Given the description of an element on the screen output the (x, y) to click on. 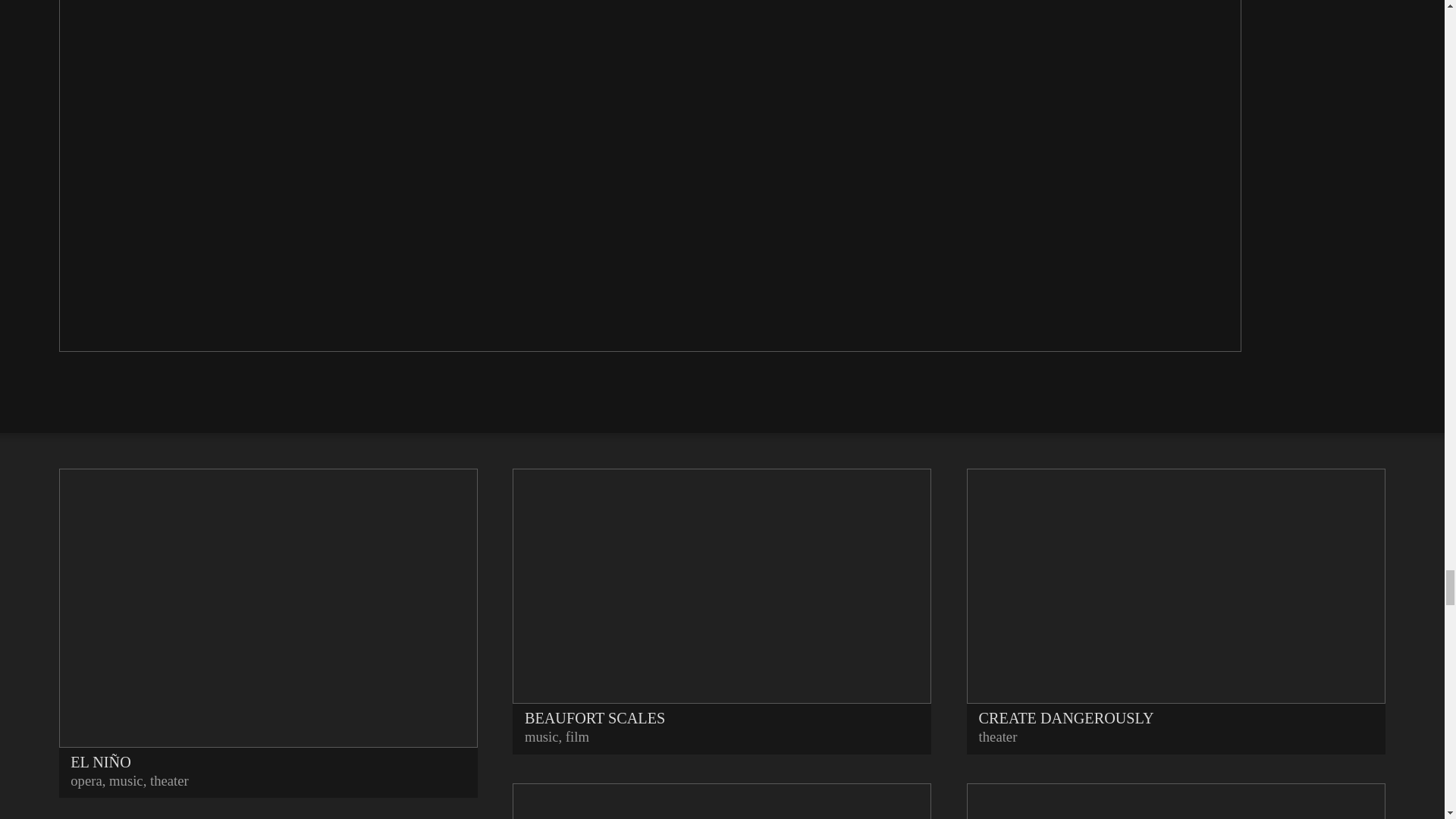
music (125, 780)
theater (169, 780)
opera (85, 780)
